Given the description of an element on the screen output the (x, y) to click on. 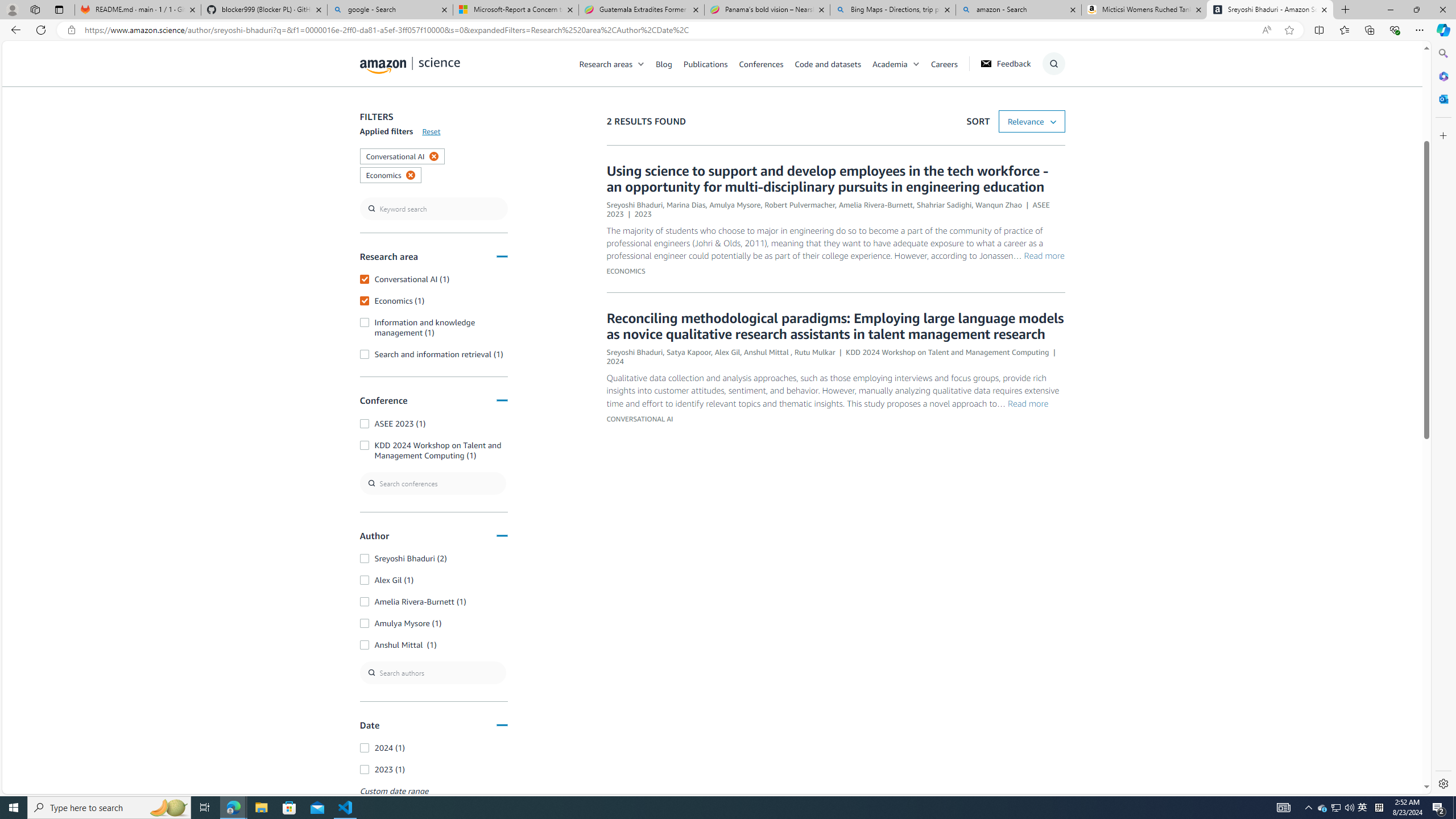
Feedback (1004, 63)
Conferences (766, 63)
Rutu Mulkar (814, 352)
Code and datasets (827, 63)
Reset (431, 131)
